Given the description of an element on the screen output the (x, y) to click on. 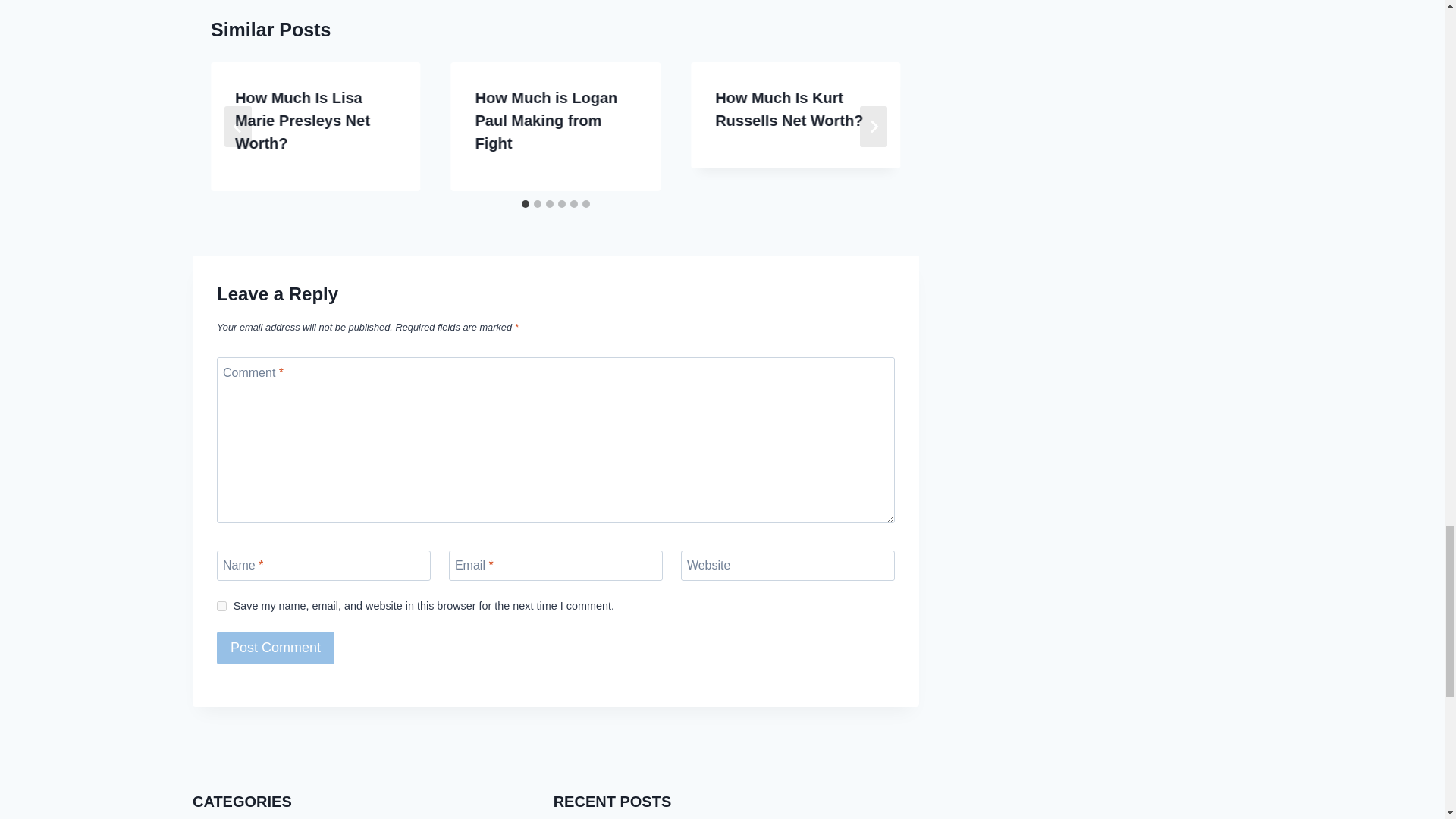
How Much Is Lisa Marie Presleys Net Worth? (301, 120)
yes (221, 605)
How Much Is Kurt Russells Net Worth? (788, 108)
How Much is Logan Paul Making from Fight (546, 120)
Post Comment (275, 647)
